Given the description of an element on the screen output the (x, y) to click on. 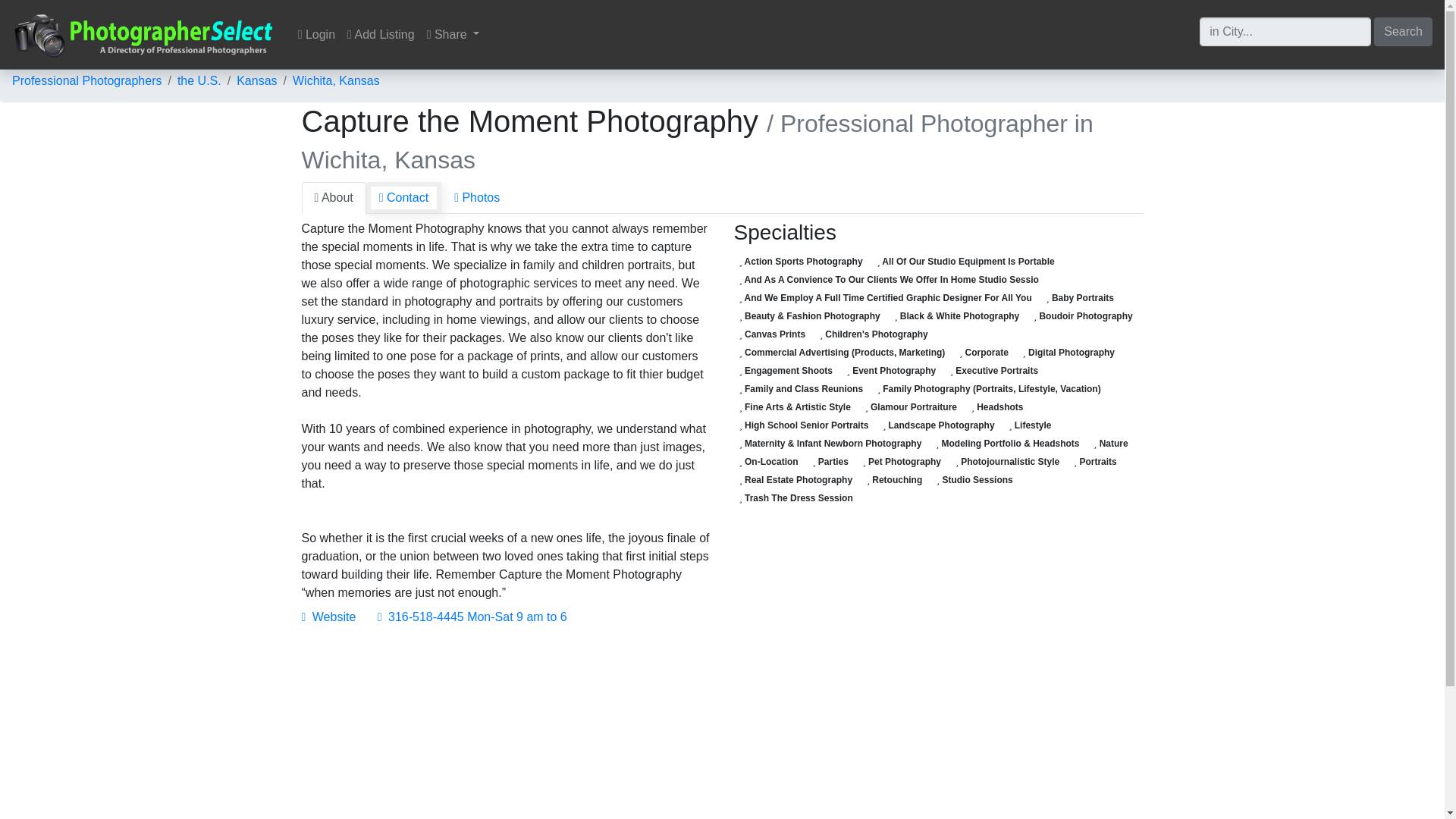
About (333, 197)
the U.S. (199, 80)
316-518-4445 Mon-Sat 9 am to 6 (472, 616)
Photos (476, 197)
Share (453, 34)
Login (316, 34)
Advertisement (506, 731)
Professional Photographers (86, 80)
Website (328, 616)
Add Listing (380, 34)
